Given the description of an element on the screen output the (x, y) to click on. 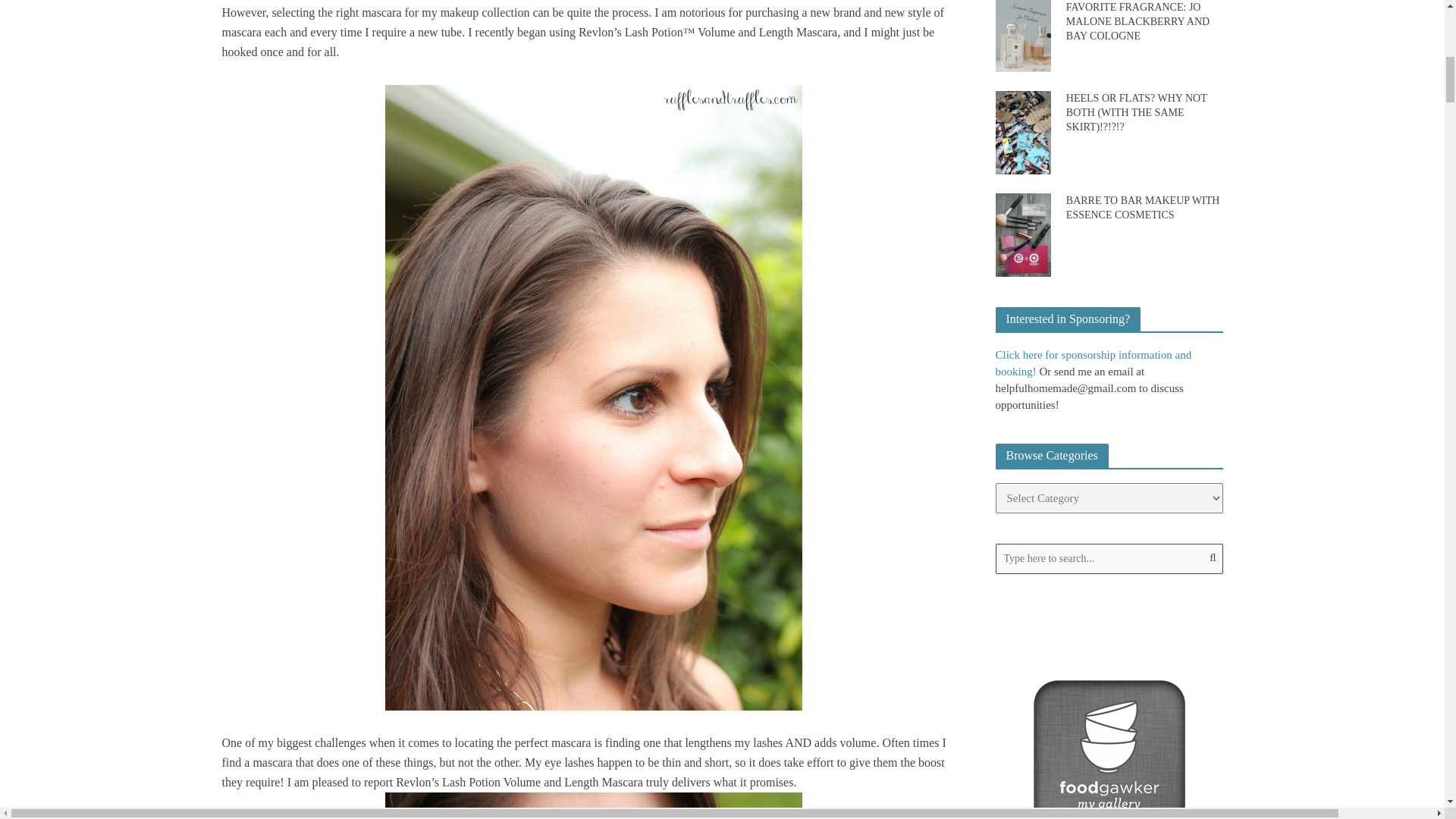
Favorite Fragrance: Jo Malone Blackberry and Bay Cologne (1021, 34)
Barre to Bar Makeup with Essence Cosmetics (1021, 233)
my foodgawker gallery (1108, 754)
